Given the description of an element on the screen output the (x, y) to click on. 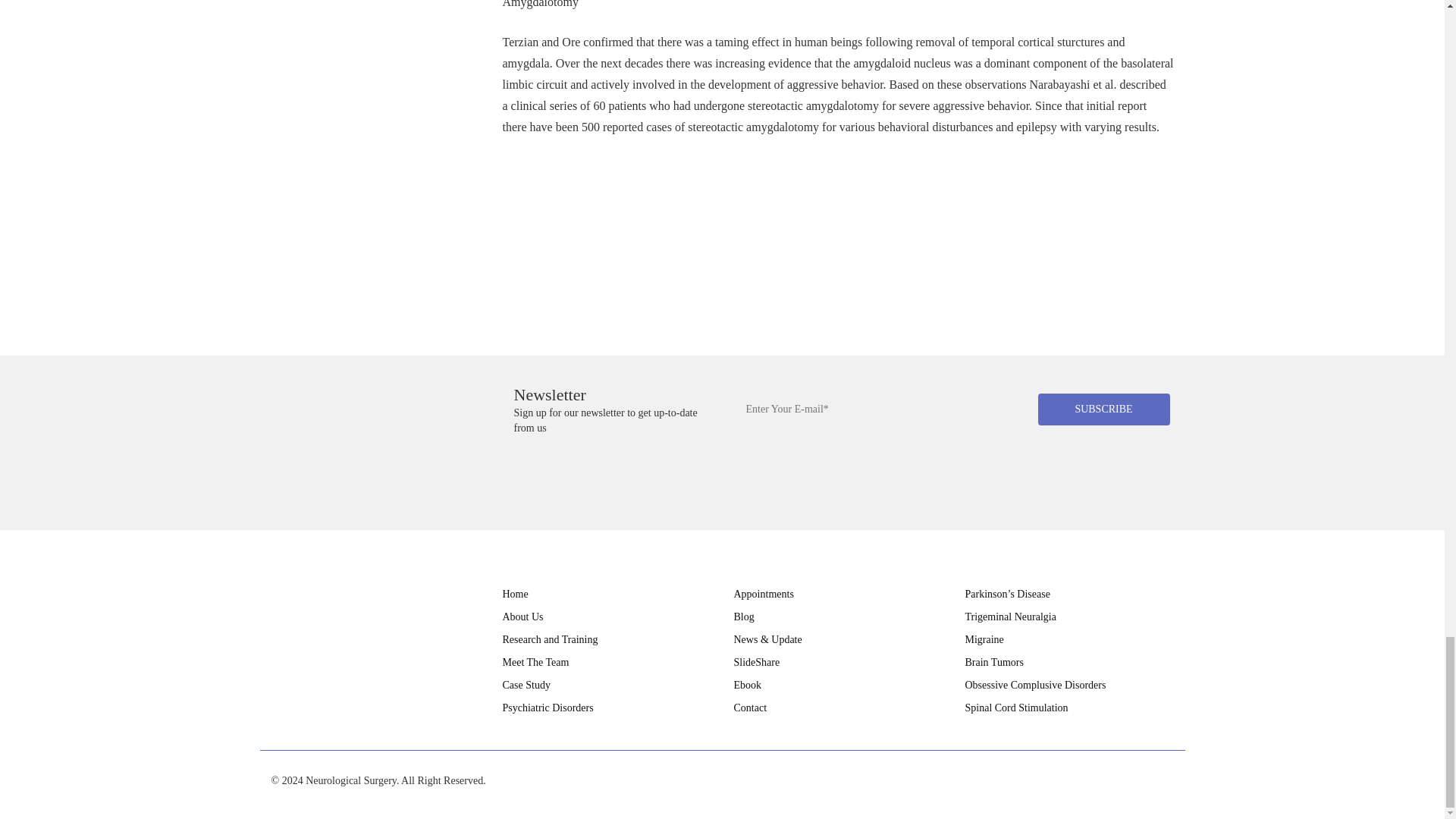
Subscribe (1102, 409)
